Given the description of an element on the screen output the (x, y) to click on. 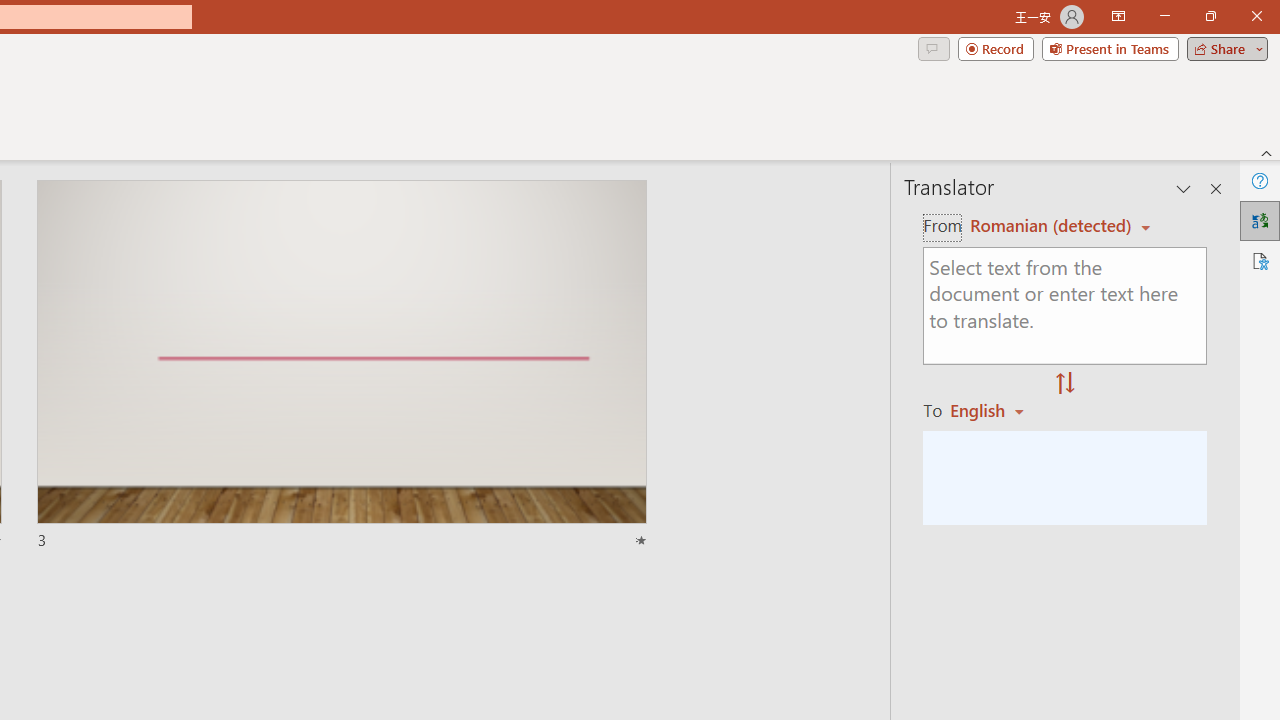
Romanian (994, 409)
